Given the description of an element on the screen output the (x, y) to click on. 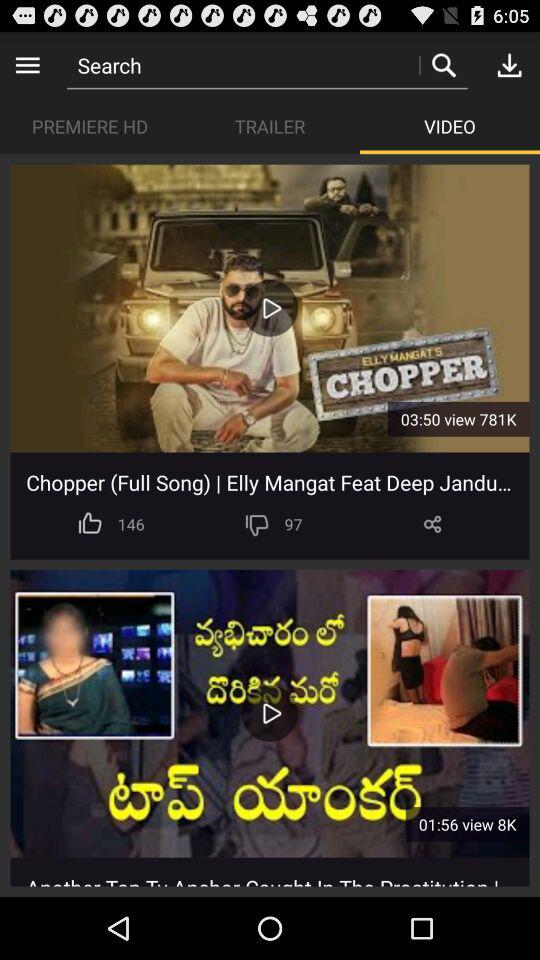
go to previous (27, 64)
